Given the description of an element on the screen output the (x, y) to click on. 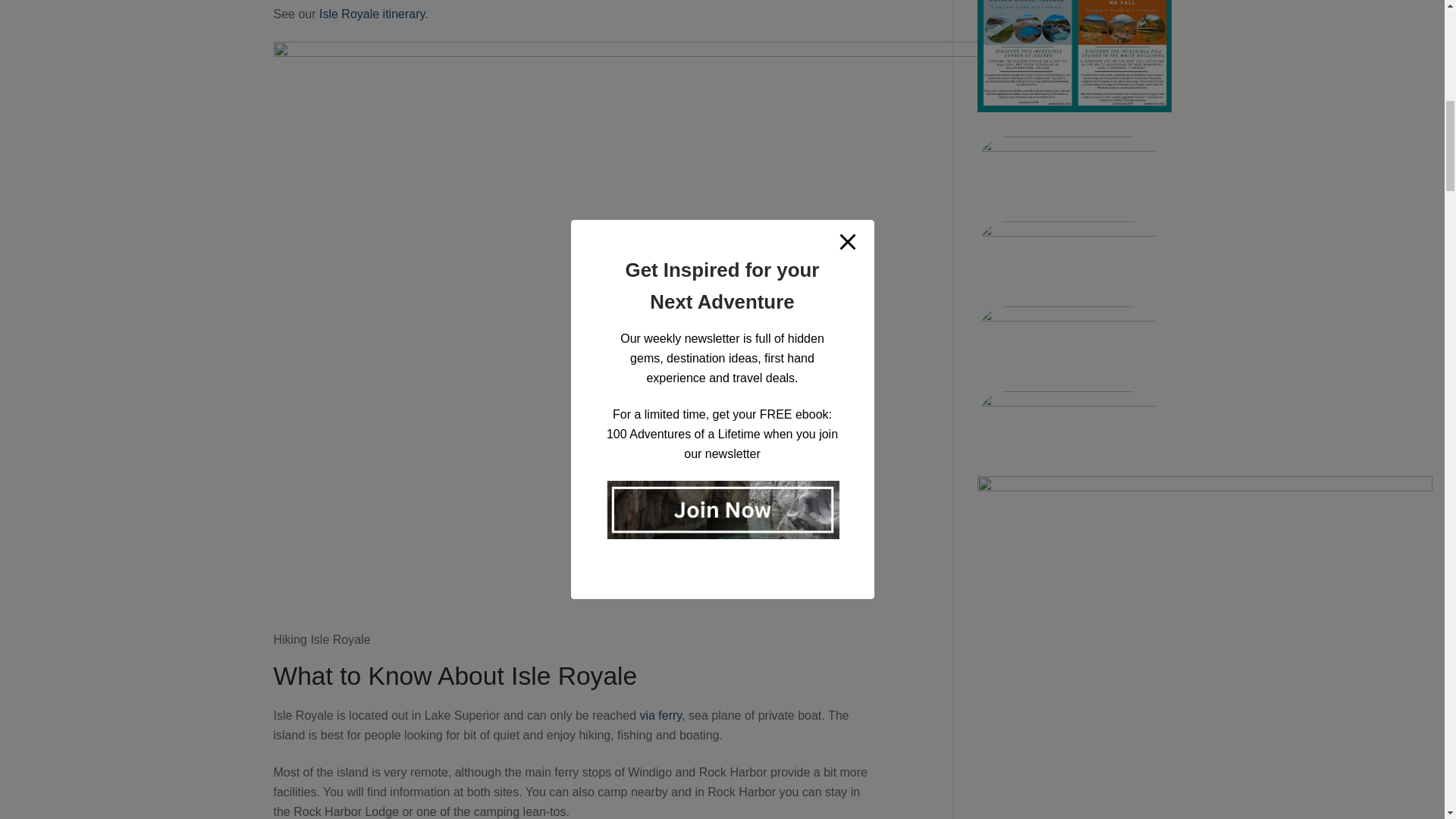
via ferry (660, 715)
Isle Royale itinerary. (371, 13)
